Given the description of an element on the screen output the (x, y) to click on. 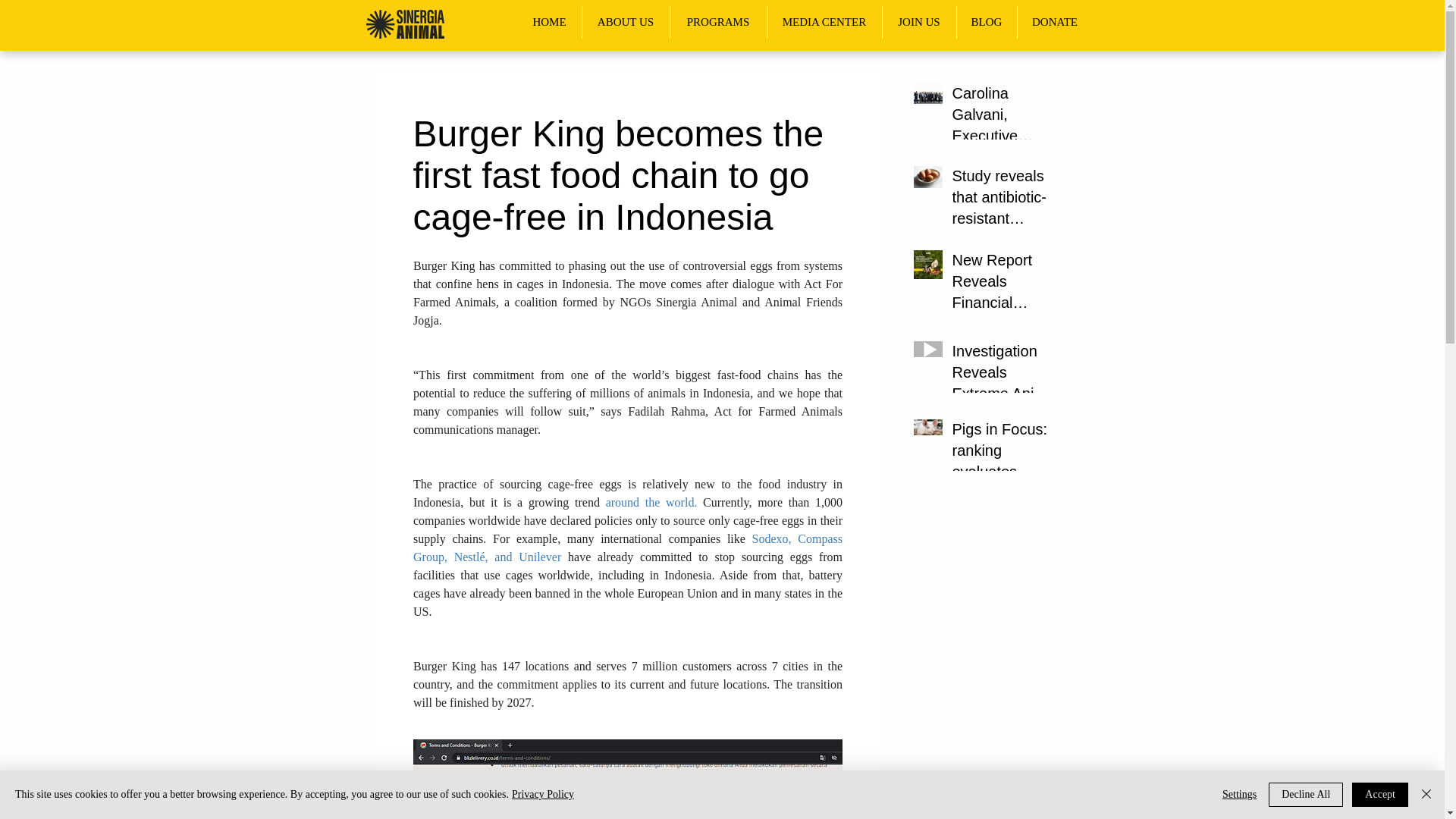
HOME (548, 21)
BLOG (986, 21)
around the world. (651, 502)
MEDIA CENTER (824, 21)
DONATE (1055, 21)
